Given the description of an element on the screen output the (x, y) to click on. 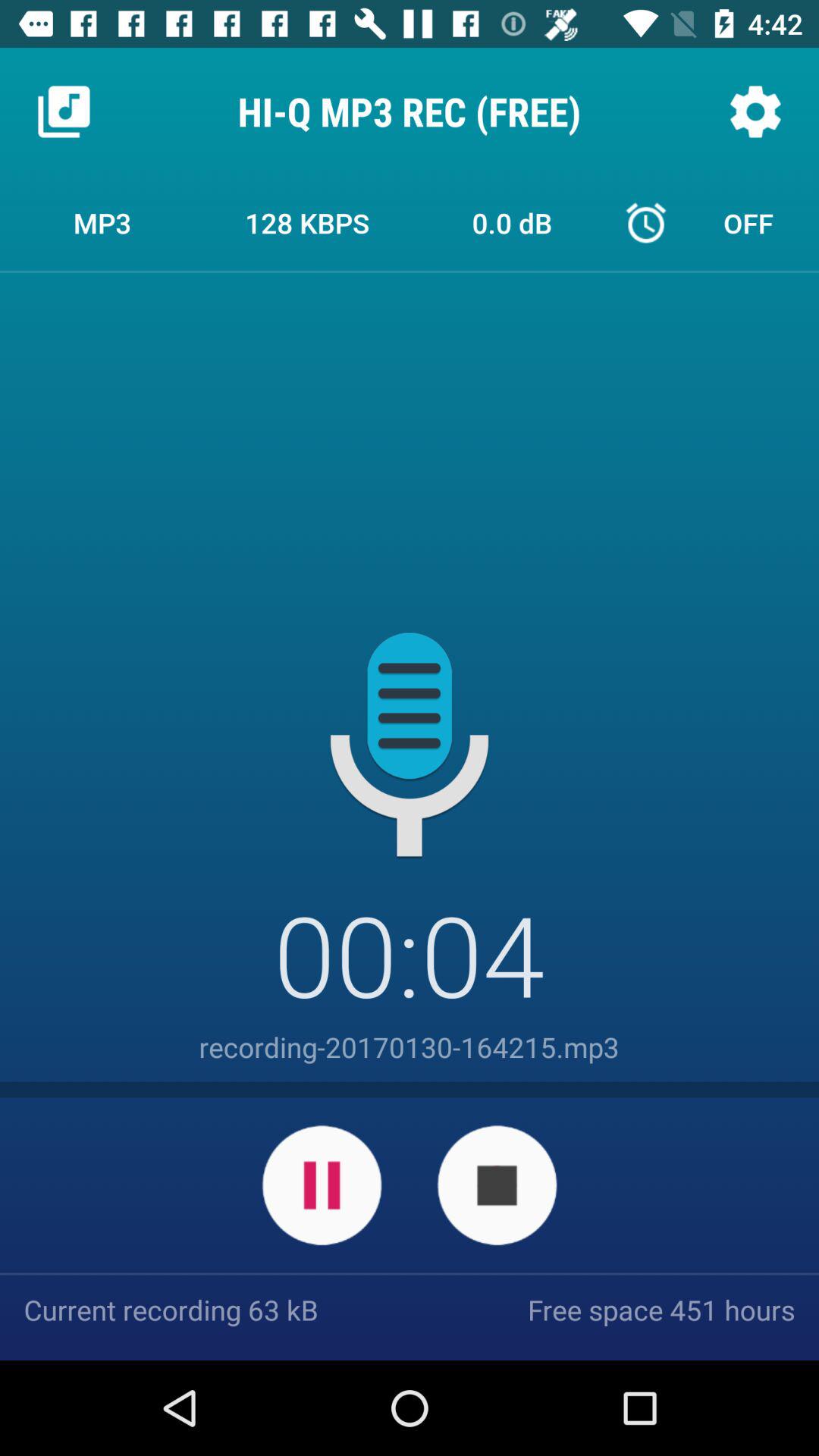
choose item above off item (755, 111)
